Given the description of an element on the screen output the (x, y) to click on. 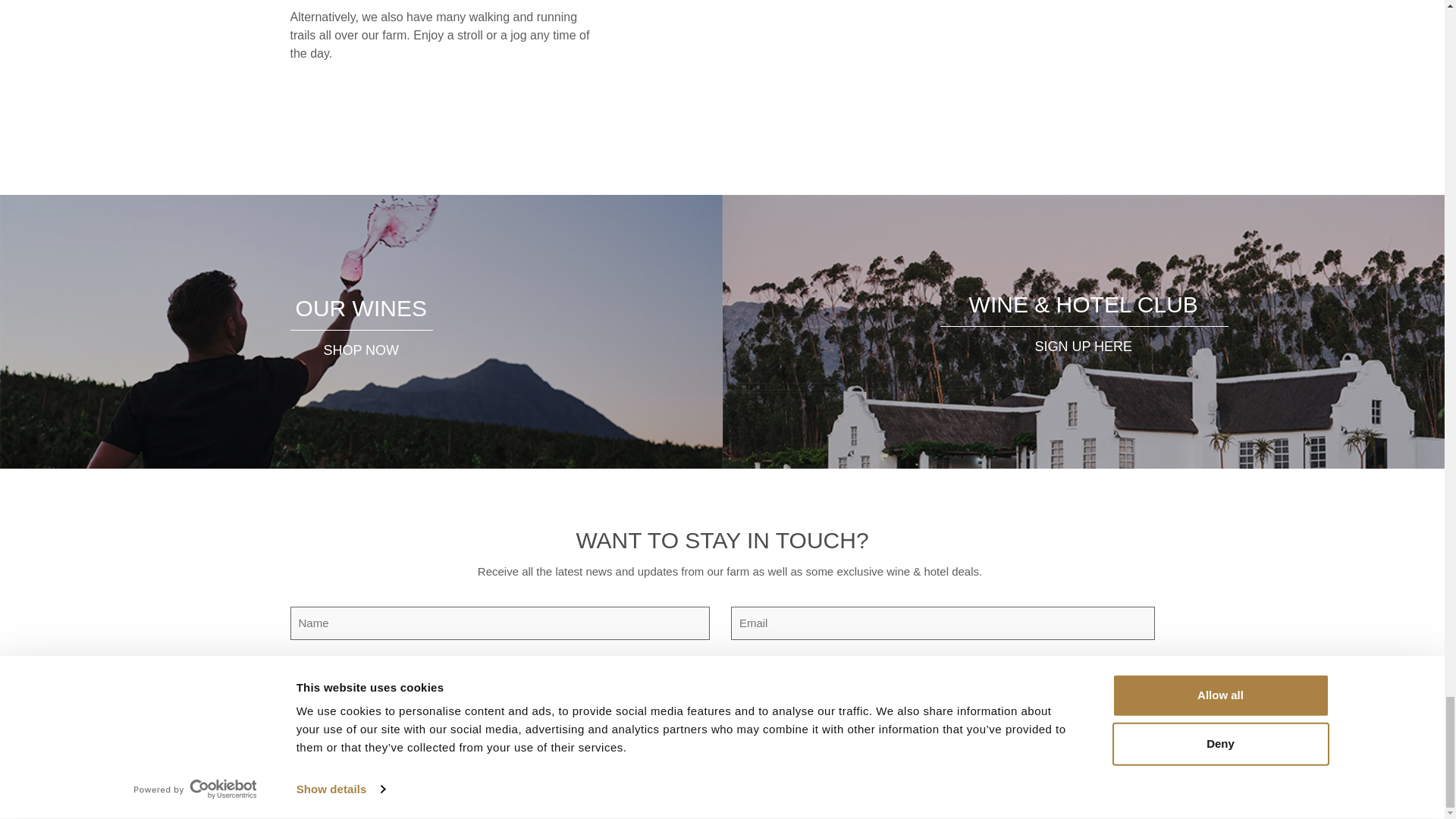
SUBMIT (722, 685)
